Given the description of an element on the screen output the (x, y) to click on. 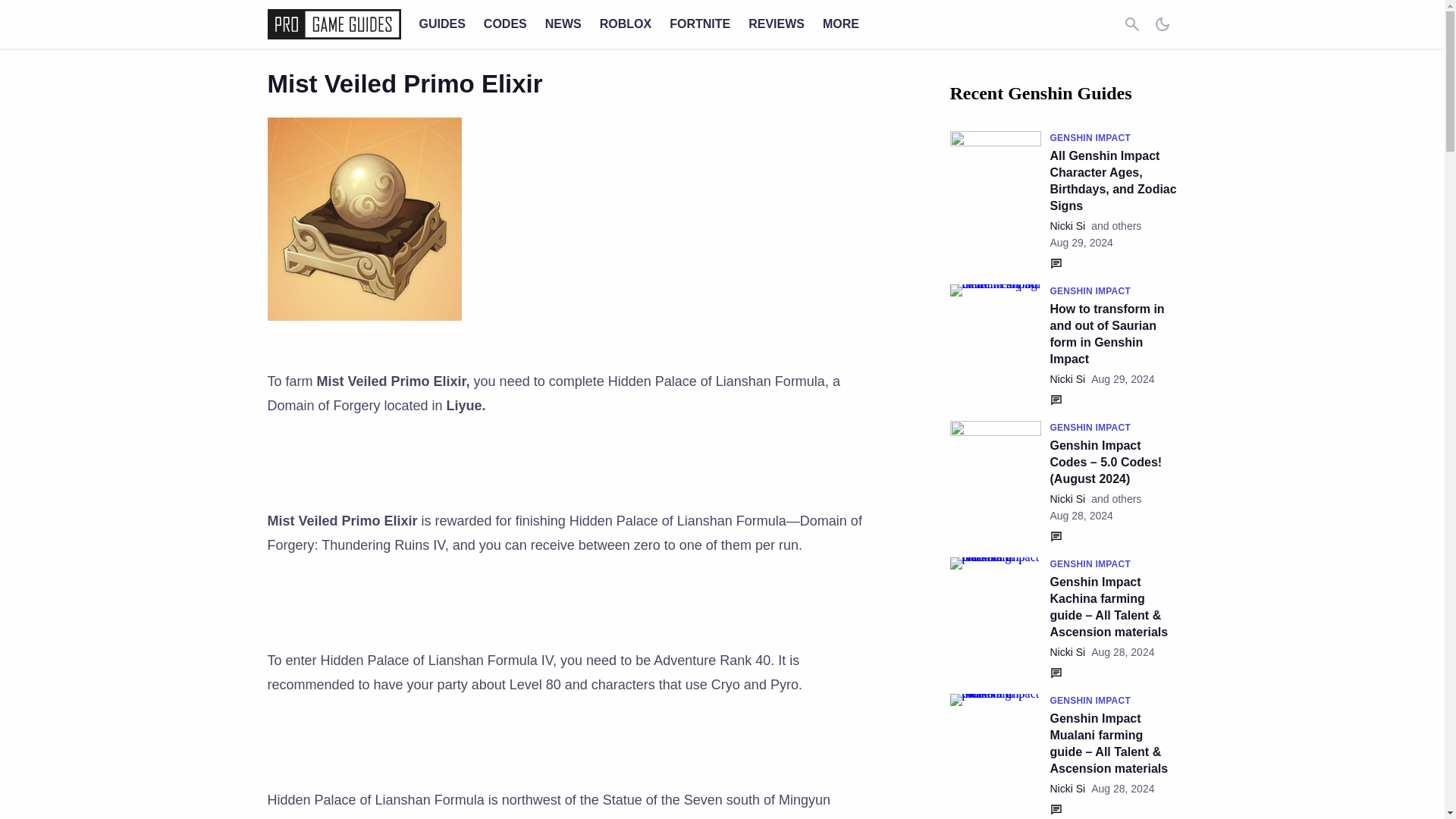
NEWS (562, 23)
Search (1131, 24)
CODES (505, 23)
REVIEWS (776, 23)
GUIDES (441, 23)
FORTNITE (699, 23)
Dark Mode (1161, 24)
ROBLOX (624, 23)
